Given the description of an element on the screen output the (x, y) to click on. 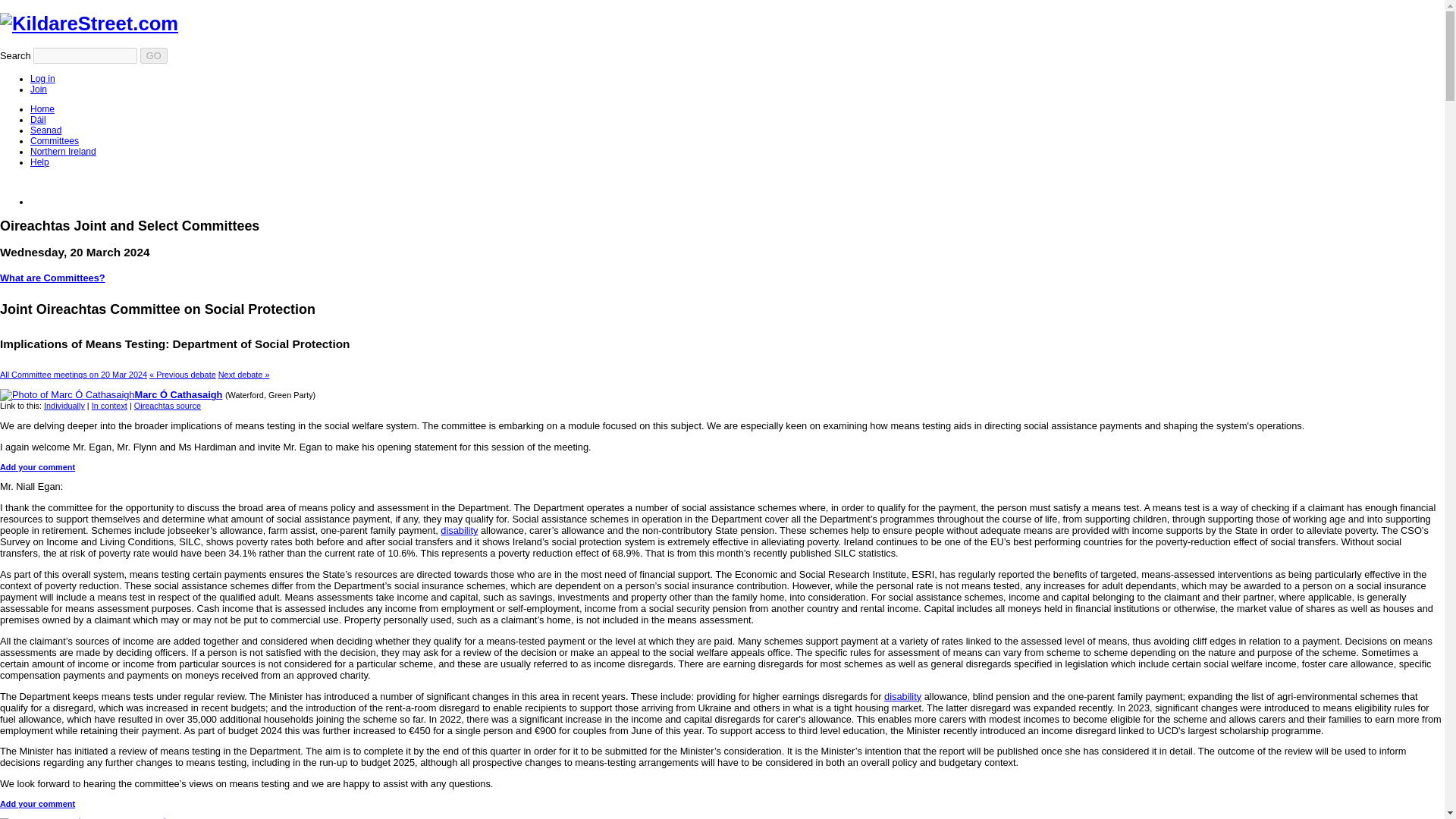
All Committee meetings on 20 Mar 2024 (73, 374)
Add your comment (37, 466)
Answers to your questions (39, 162)
Join (38, 89)
Northern Ireland (63, 151)
Comment on this (37, 466)
Help (39, 162)
Add your comment (37, 803)
Oireachtas source (166, 405)
GO (153, 55)
Oireachtas Joint and Select Committees (54, 140)
Committees (54, 140)
To the front page of the site (88, 23)
Joint Committee on Tourism, Culture, Arts, Sport And Media (243, 374)
Home (42, 109)
